Given the description of an element on the screen output the (x, y) to click on. 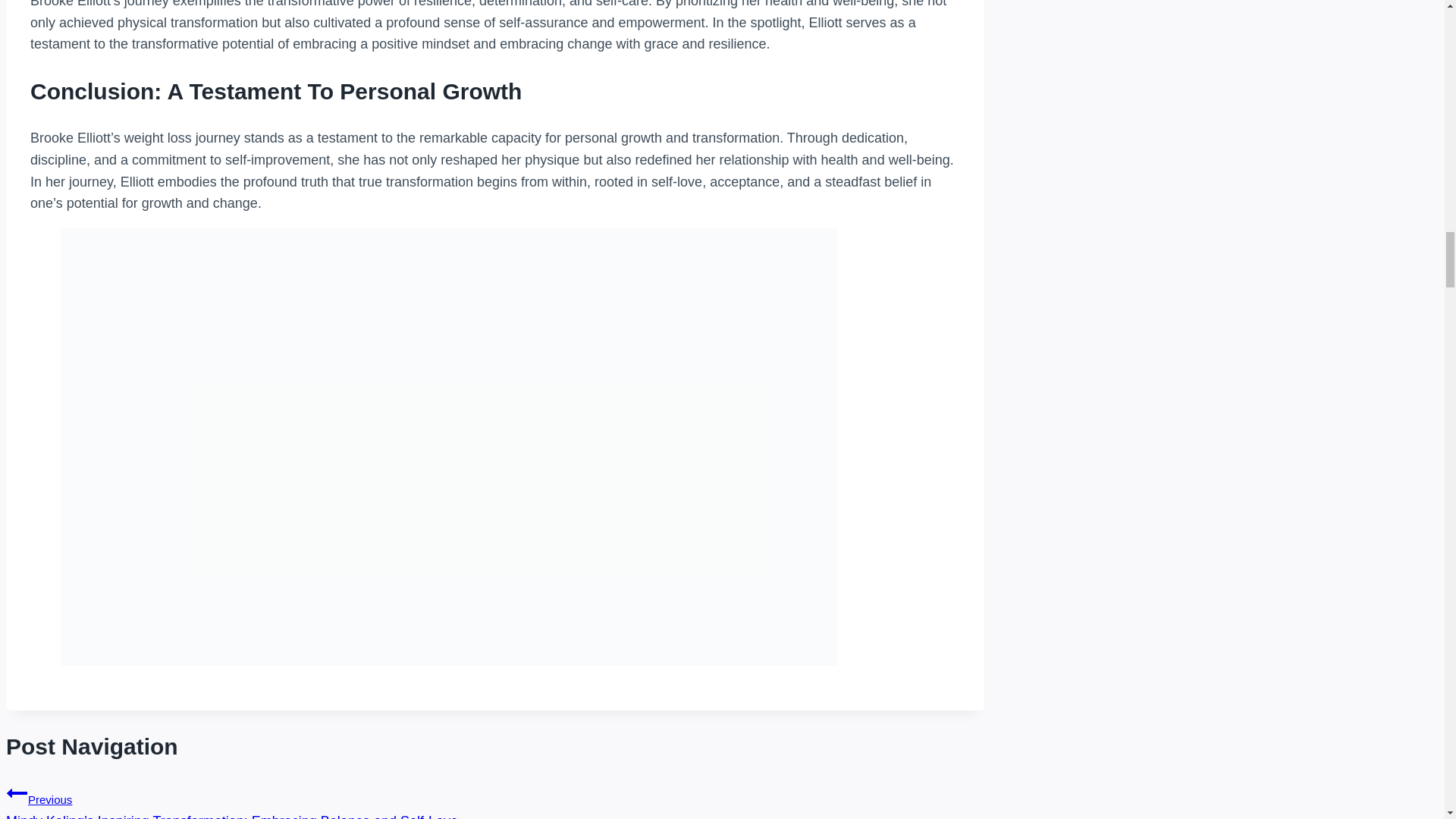
Previous (16, 792)
